Given the description of an element on the screen output the (x, y) to click on. 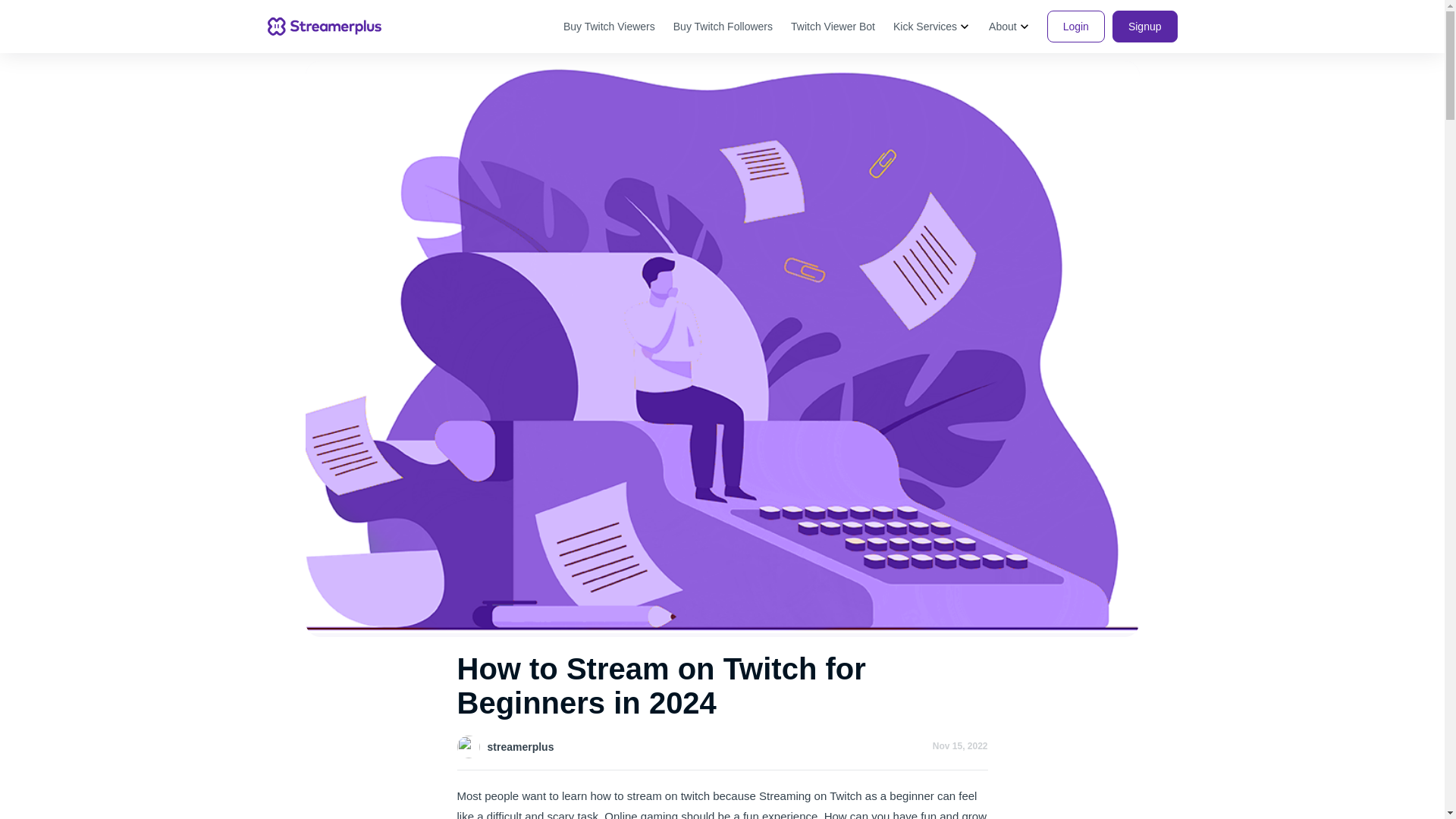
Buy Twitch Followers (722, 26)
Login (1075, 26)
Kick Services (931, 26)
Signup (1144, 26)
About (1009, 26)
Twitch Viewer Bot (832, 26)
Buy Twitch Viewers (608, 26)
